Given the description of an element on the screen output the (x, y) to click on. 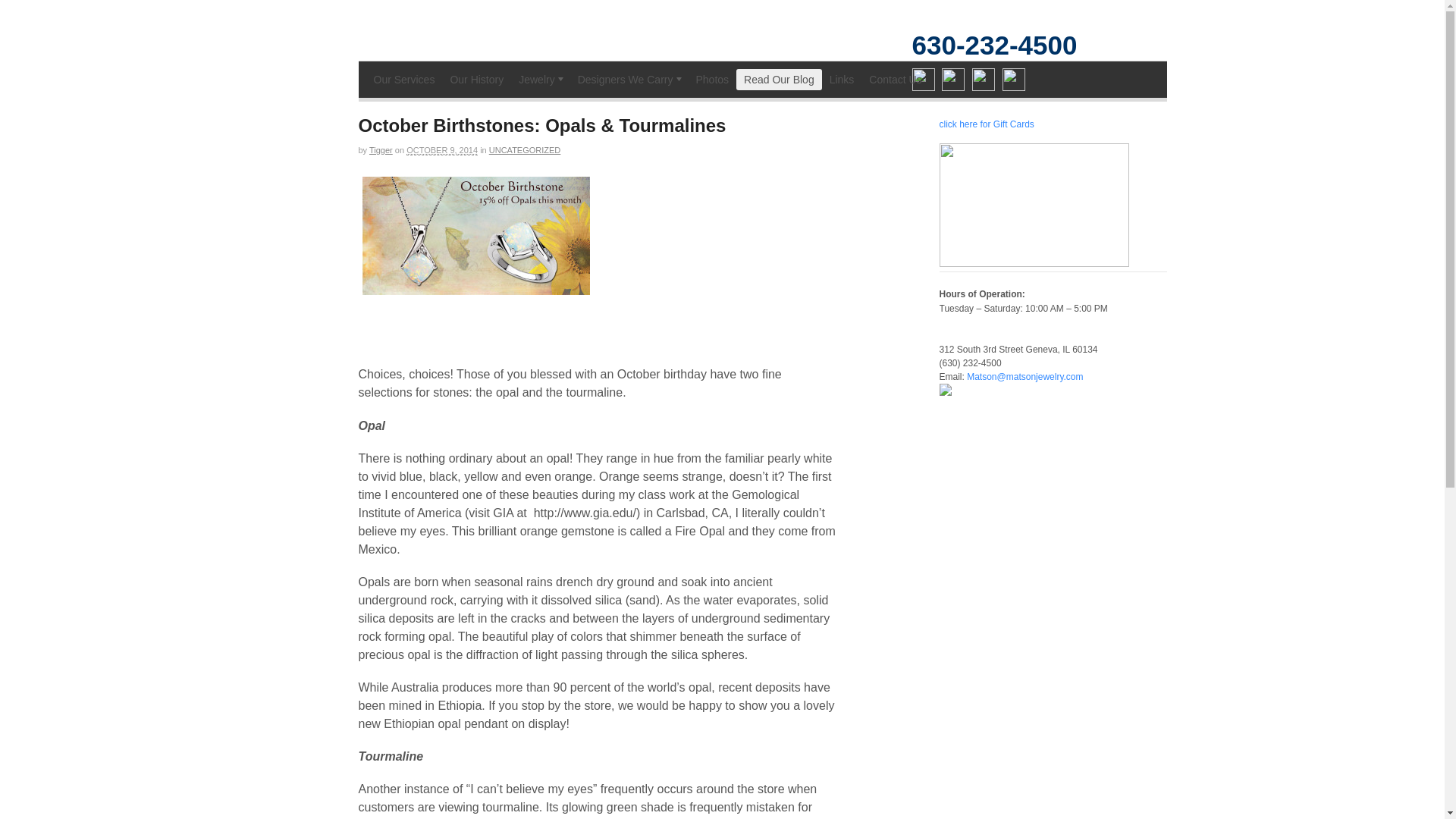
click here for Gift Cards (986, 123)
UNCATEGORIZED (524, 149)
Our Services (403, 79)
Our History (476, 79)
Posts by tigger (381, 149)
Photos (711, 79)
Links (841, 79)
Read Our Blog (779, 79)
Gift card purchase for Matson Jewelry (986, 123)
Contact Us (894, 79)
Tigger (381, 149)
